Given the description of an element on the screen output the (x, y) to click on. 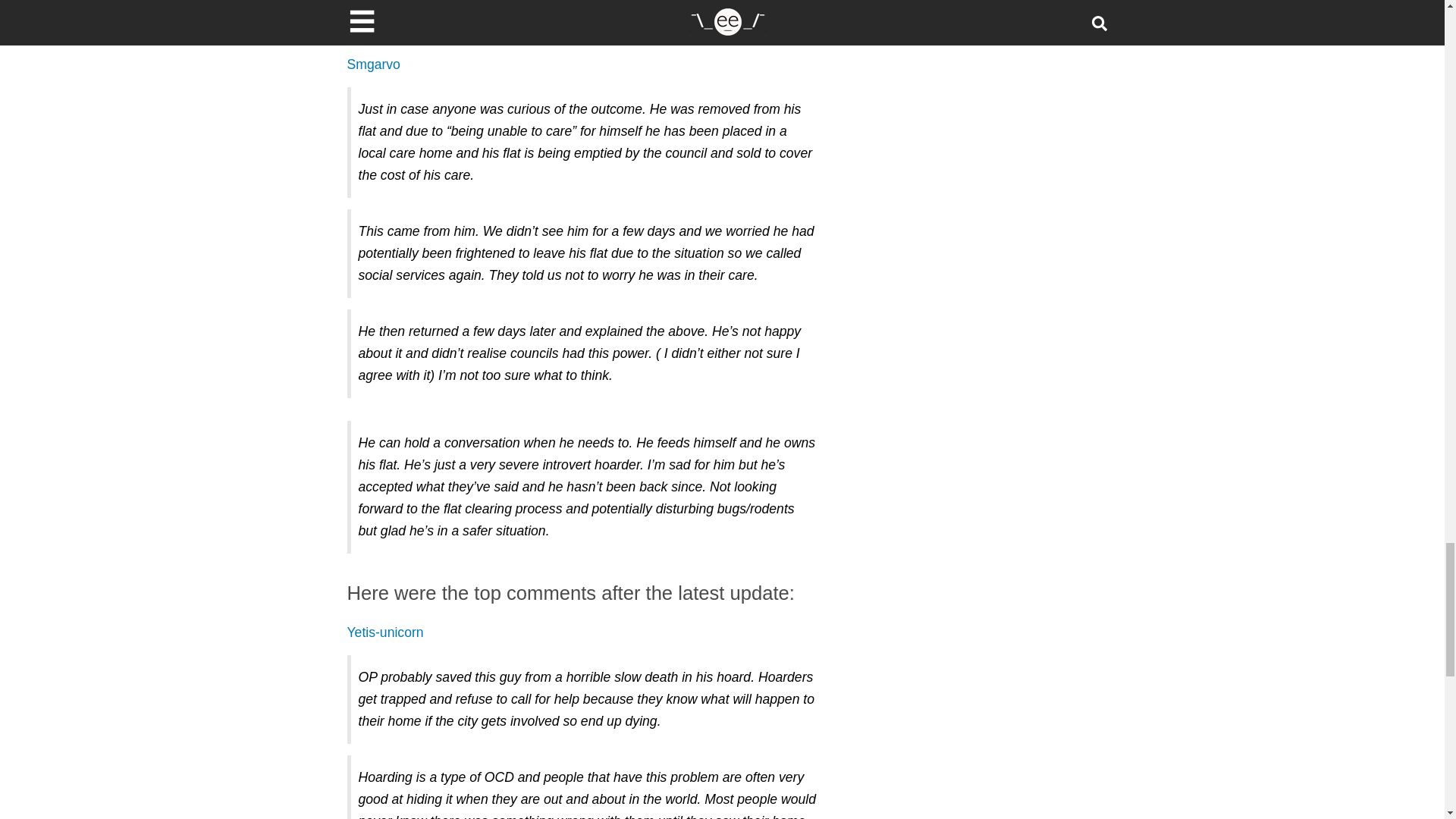
Yetis-unicorn (385, 631)
Smgarvo (373, 64)
